Given the description of an element on the screen output the (x, y) to click on. 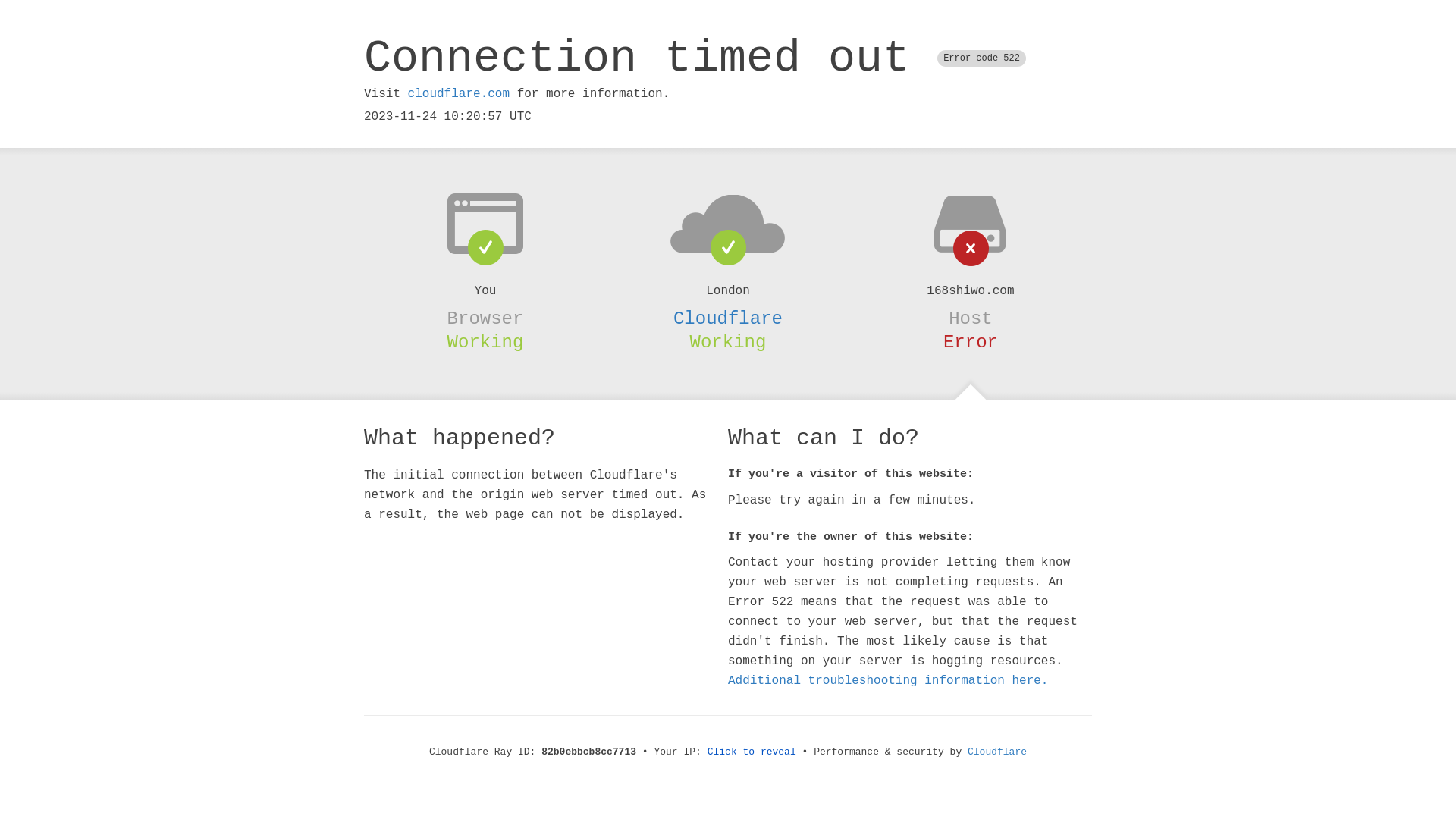
Cloudflare Element type: text (996, 751)
Additional troubleshooting information here. Element type: text (888, 680)
Click to reveal Element type: text (751, 751)
Cloudflare Element type: text (727, 318)
cloudflare.com Element type: text (458, 93)
